Given the description of an element on the screen output the (x, y) to click on. 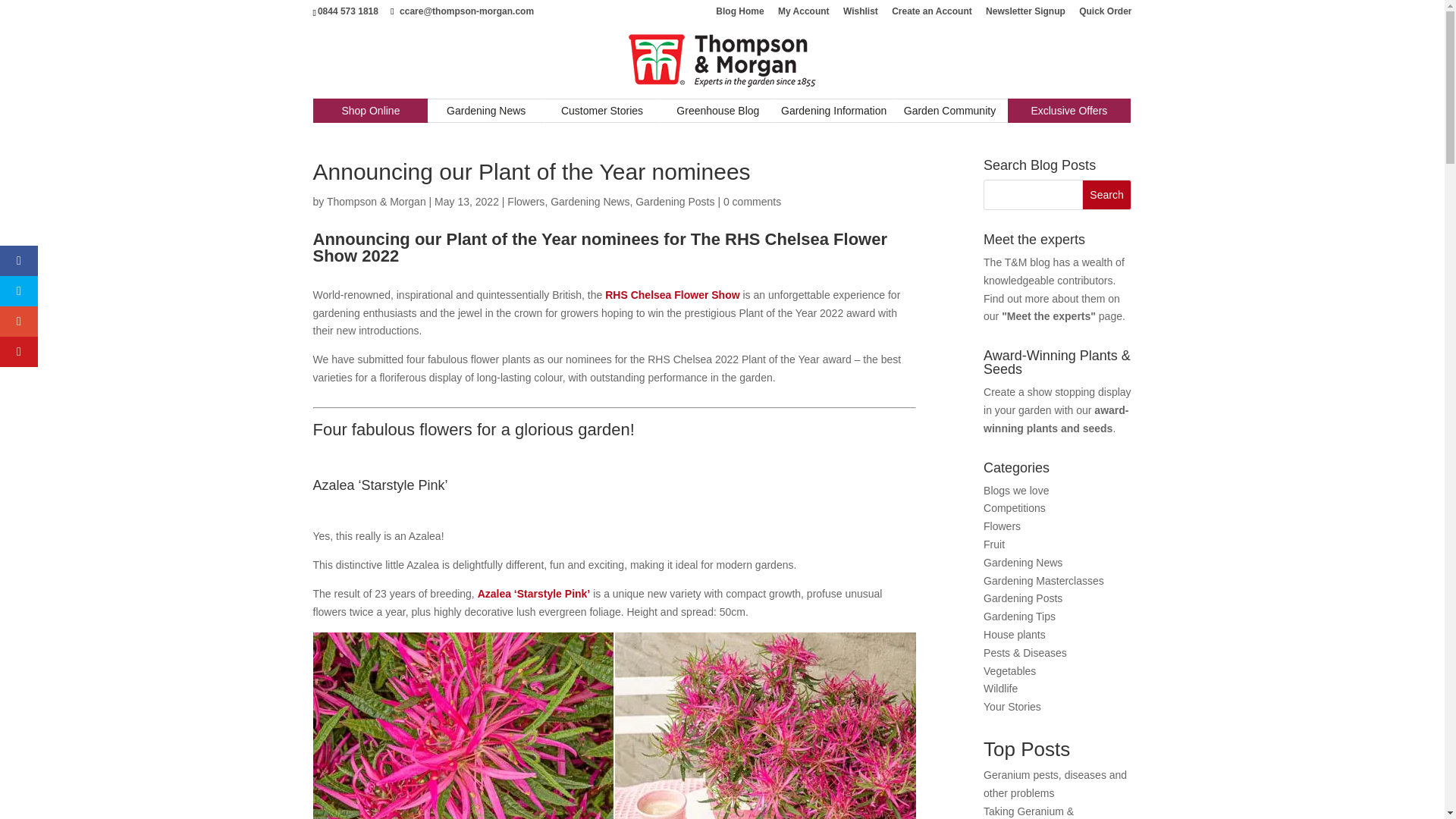
Blog Home (739, 14)
Search (1106, 194)
Gardening News (485, 110)
Newsletter Signup (1025, 14)
0 comments (751, 201)
Flowers (525, 201)
Gardening Posts (674, 201)
Gardening Information (833, 110)
award-winning plants and seeds (1056, 419)
Garden Community (949, 110)
